Given the description of an element on the screen output the (x, y) to click on. 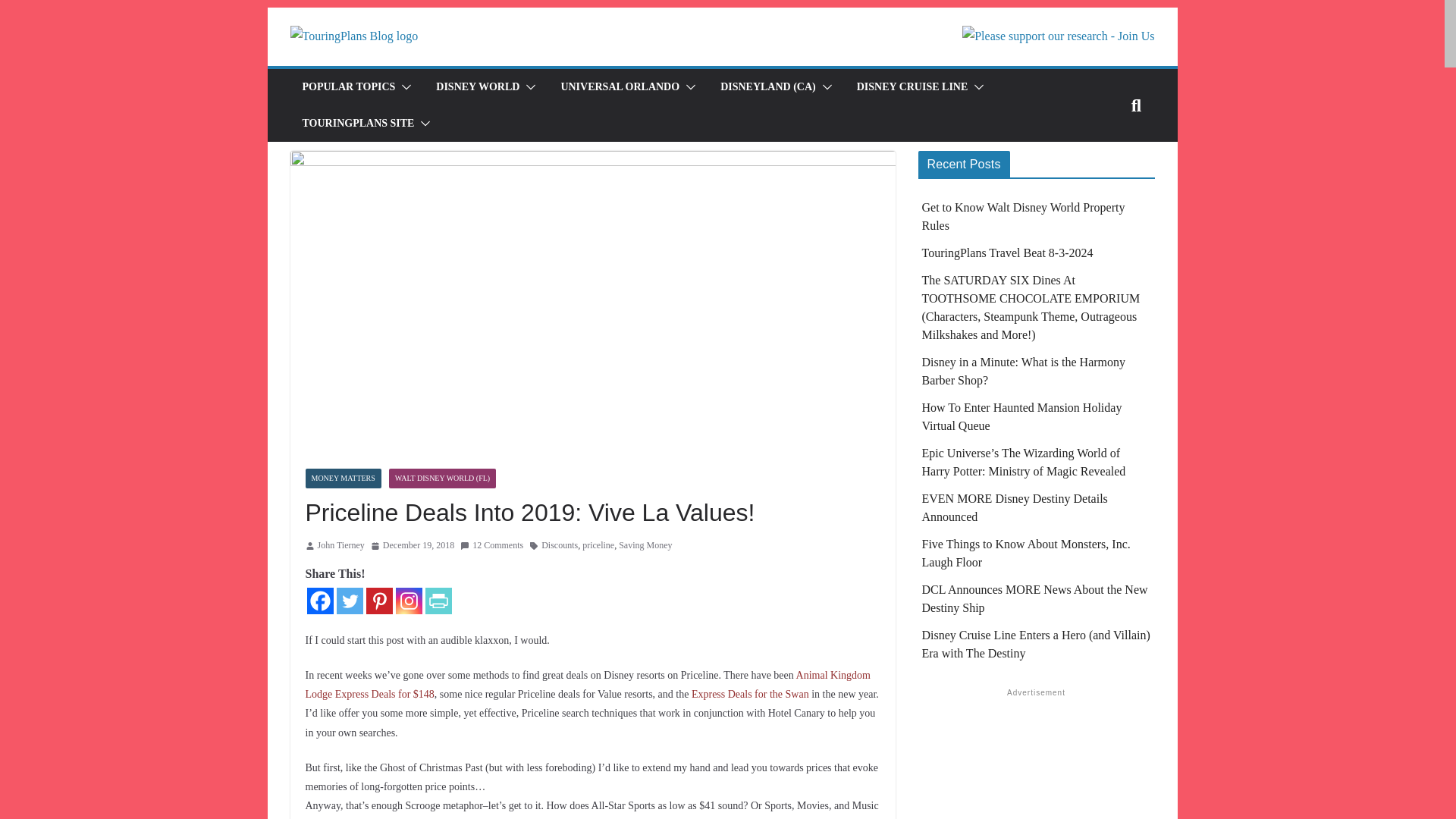
PrintFriendly (438, 601)
9:00 am (412, 545)
UNIVERSAL ORLANDO (619, 86)
TOURINGPLANS SITE (357, 123)
DISNEY WORLD (477, 86)
POPULAR TOPICS (347, 86)
John Tierney (340, 545)
DISNEY CRUISE LINE (912, 86)
Pinterest (378, 601)
Twitter (349, 601)
Instagram (409, 601)
Facebook (319, 601)
